Given the description of an element on the screen output the (x, y) to click on. 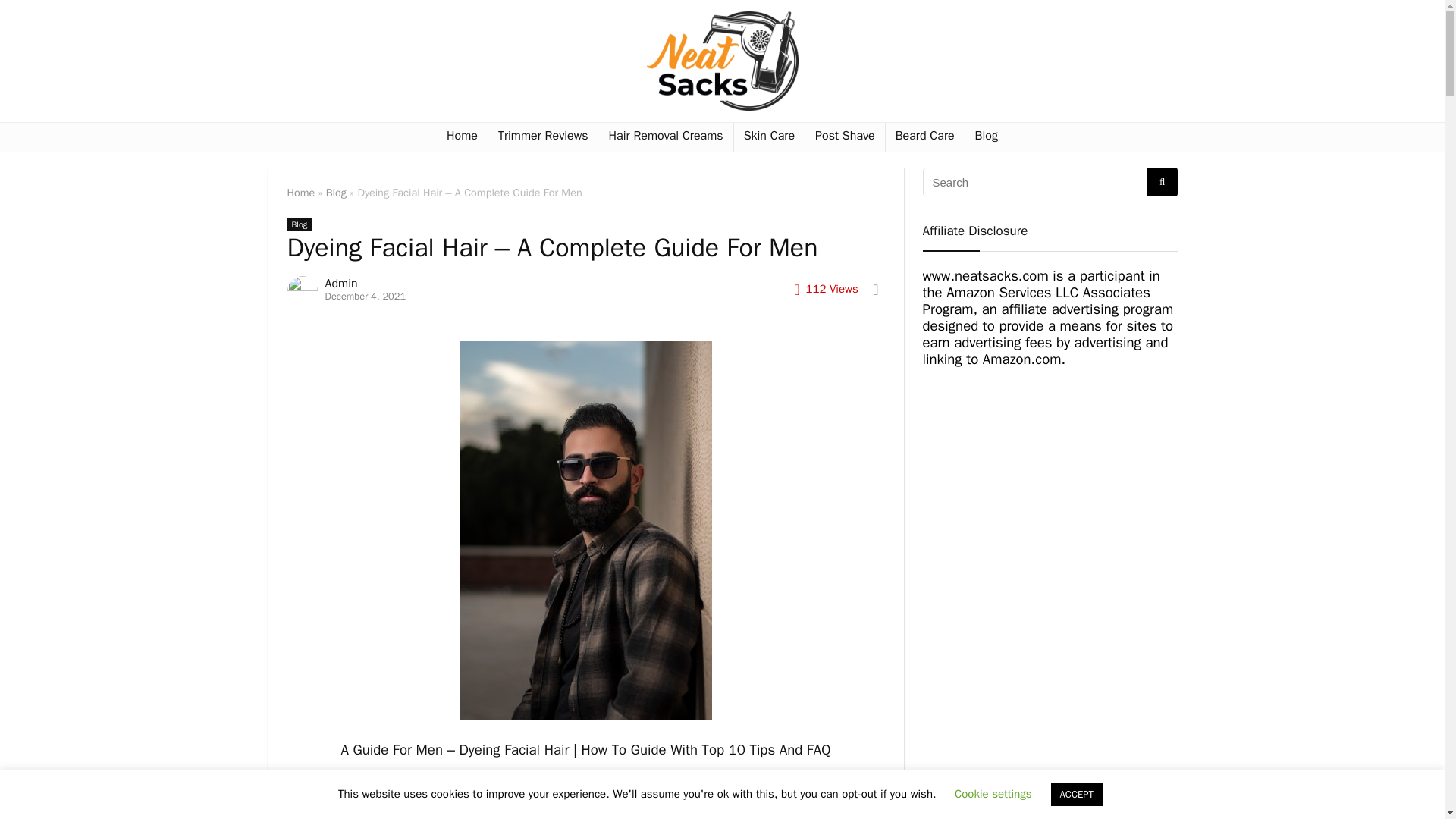
Trimmer Reviews (542, 136)
Home (300, 192)
View all posts in Blog (298, 223)
Hair Removal Creams (665, 136)
Blog (336, 192)
Skin Care (769, 136)
Home (461, 136)
Blog (986, 136)
Beard Care (924, 136)
Blog (298, 223)
